Given the description of an element on the screen output the (x, y) to click on. 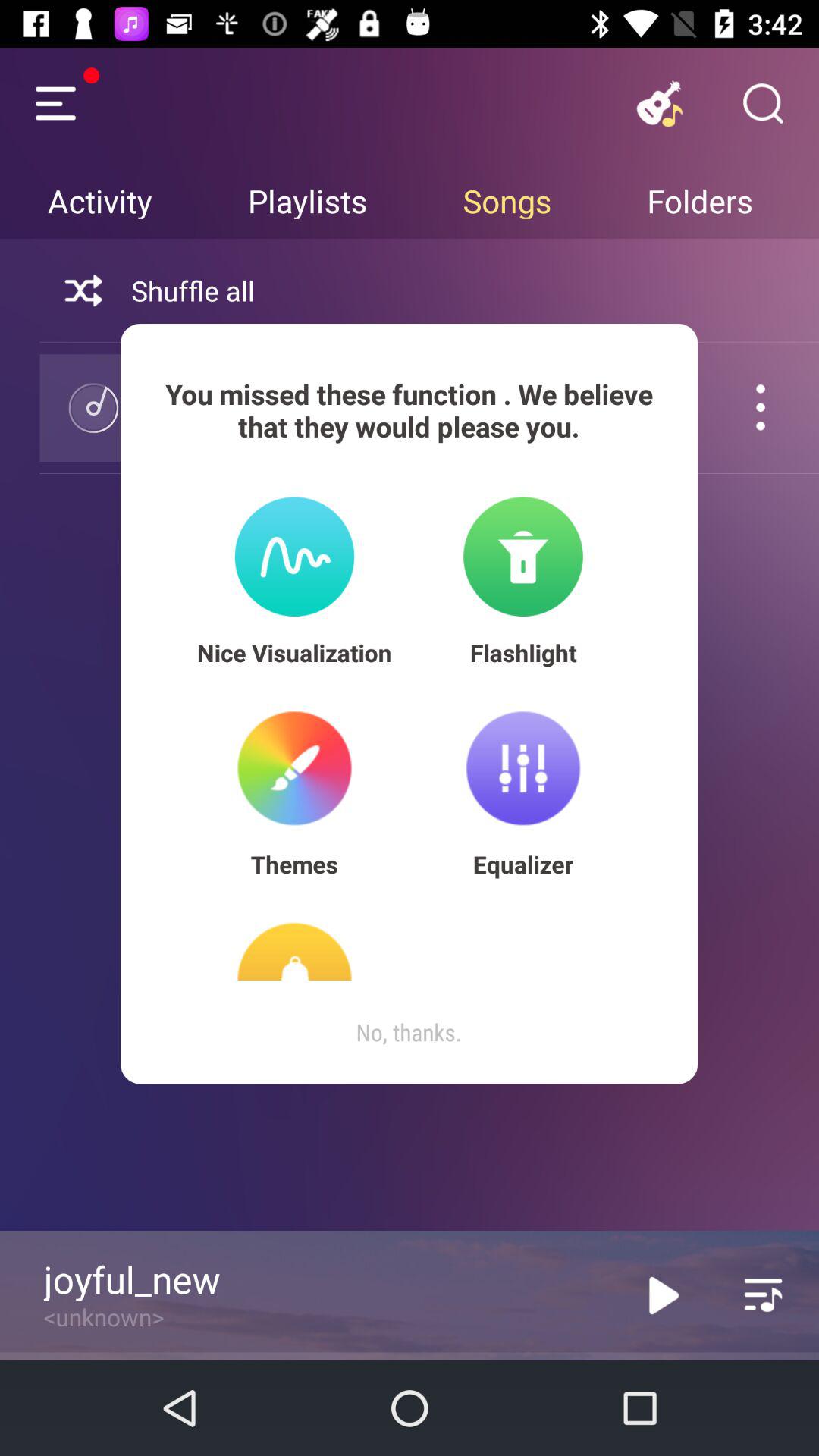
scroll to themes icon (294, 864)
